Given the description of an element on the screen output the (x, y) to click on. 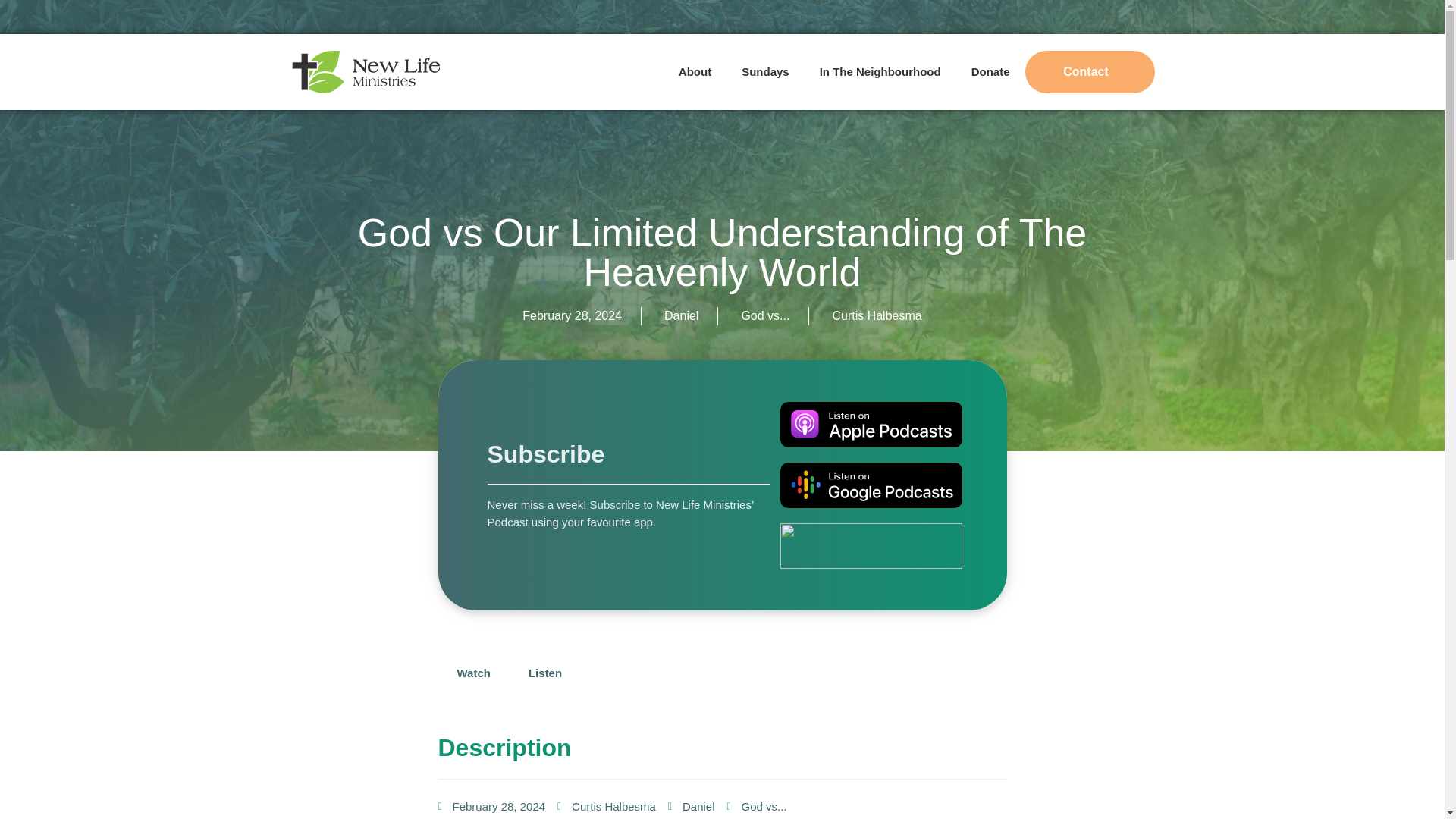
Donate (990, 71)
Sundays (765, 71)
In The Neighbourhood (880, 71)
Contact (1089, 71)
